Given the description of an element on the screen output the (x, y) to click on. 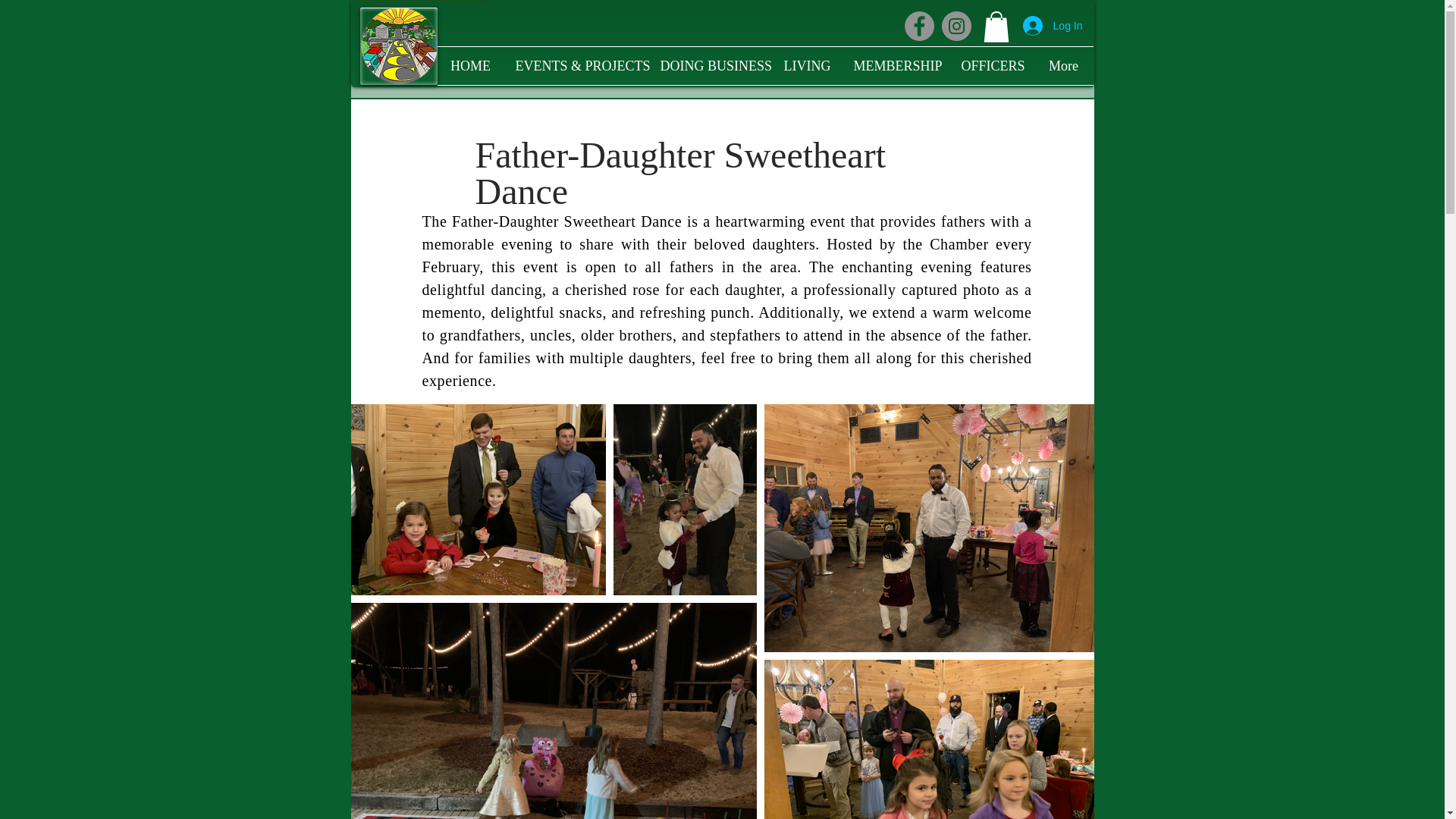
OFFICERS (991, 65)
LIVING (806, 65)
DOING BUSINESS (711, 65)
HOME (469, 65)
Log In (1052, 25)
MEMBERSHIP (895, 65)
